Given the description of an element on the screen output the (x, y) to click on. 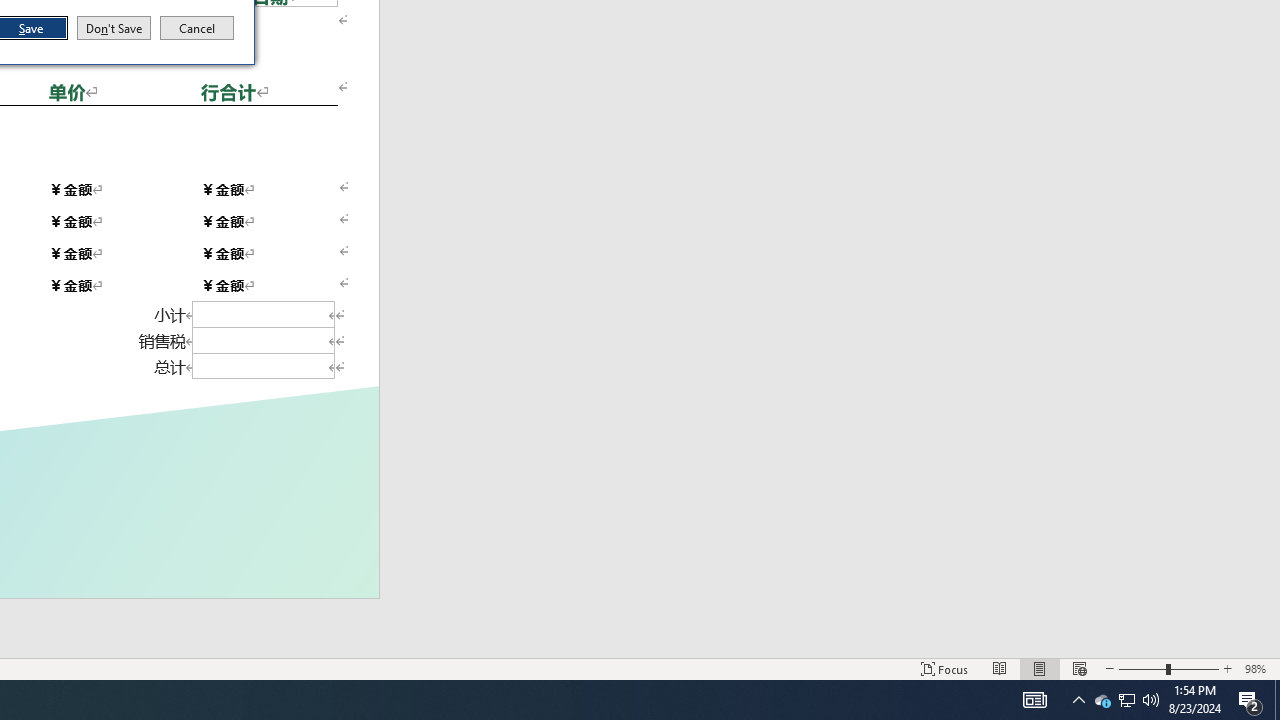
Zoom 98% (1258, 668)
Don't Save (113, 27)
